Given the description of an element on the screen output the (x, y) to click on. 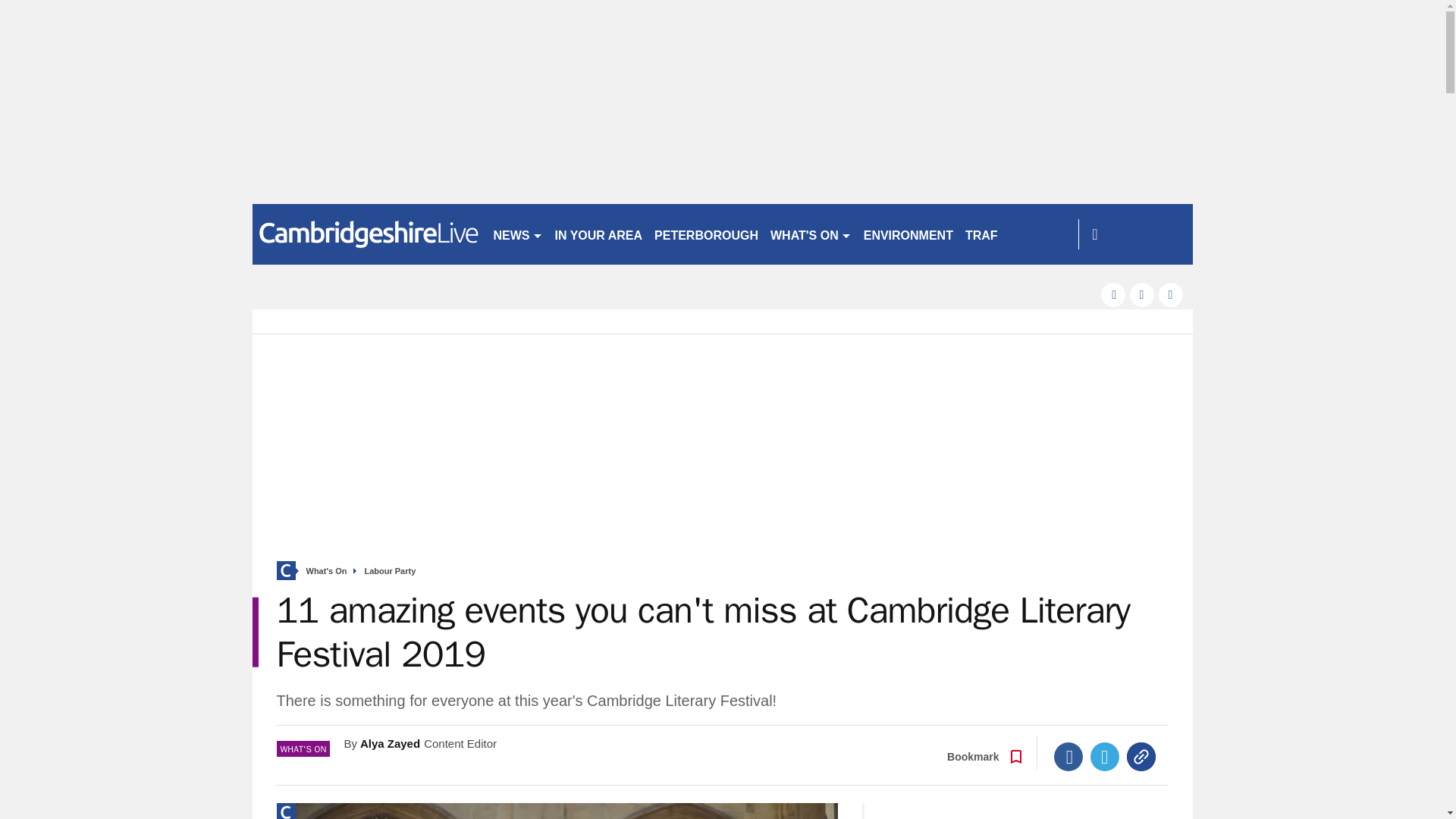
Facebook (1068, 756)
instagram (1170, 294)
PETERBOROUGH (705, 233)
facebook (1112, 294)
ENVIRONMENT (908, 233)
Twitter (1104, 756)
twitter (1141, 294)
cambridgenews (365, 233)
NEWS (517, 233)
IN YOUR AREA (598, 233)
WHAT'S ON (810, 233)
